Given the description of an element on the screen output the (x, y) to click on. 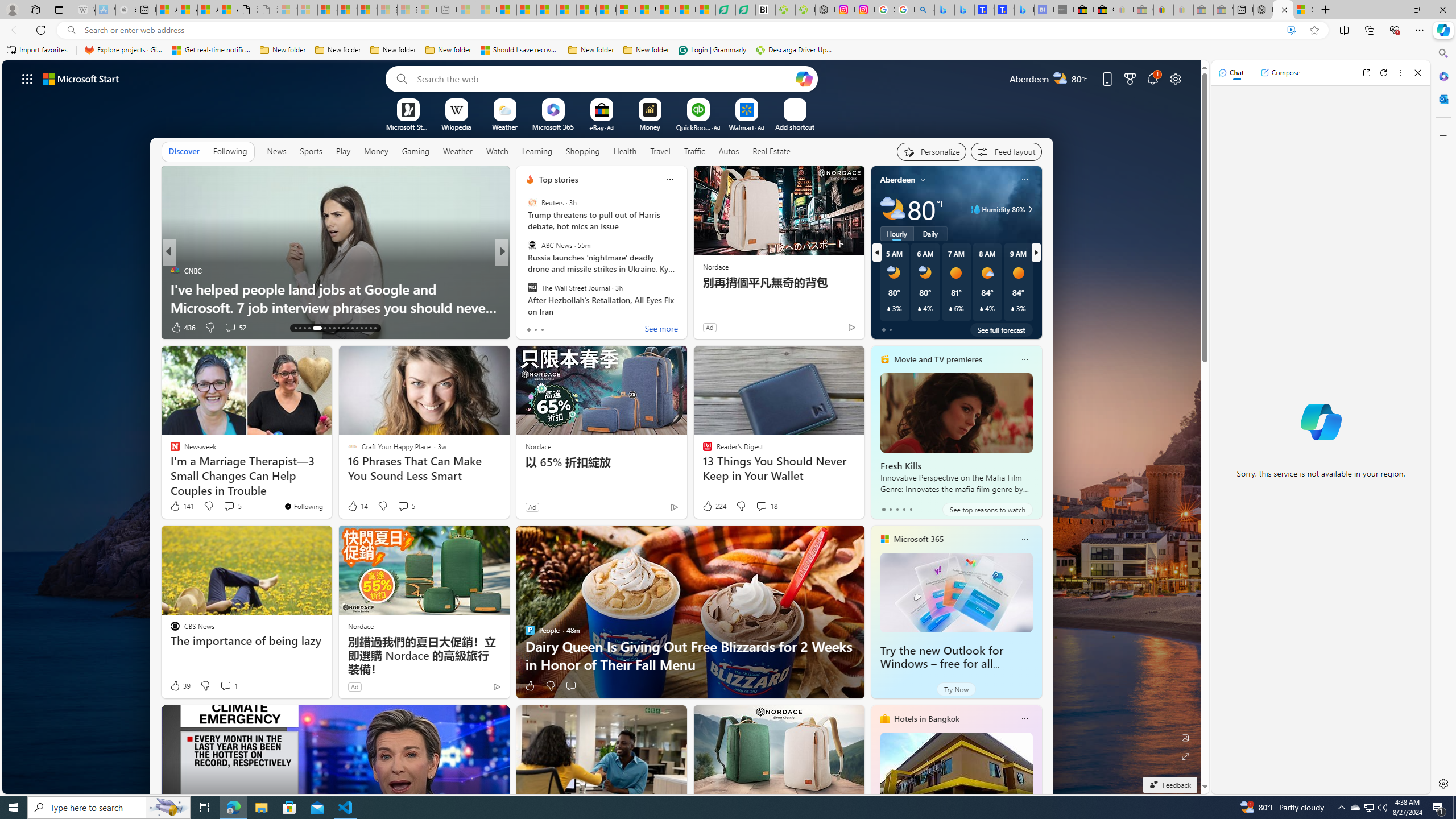
Drinking tea every day is proven to delay biological aging (565, 9)
Class: weather-arrow-glyph (1029, 208)
tab-4 (910, 509)
AutomationID: tab-19 (329, 328)
AutomationID: backgroundImagePicture (601, 426)
The Wall Street Journal (532, 287)
AutomationID: tab-41 (374, 328)
